Given the description of an element on the screen output the (x, y) to click on. 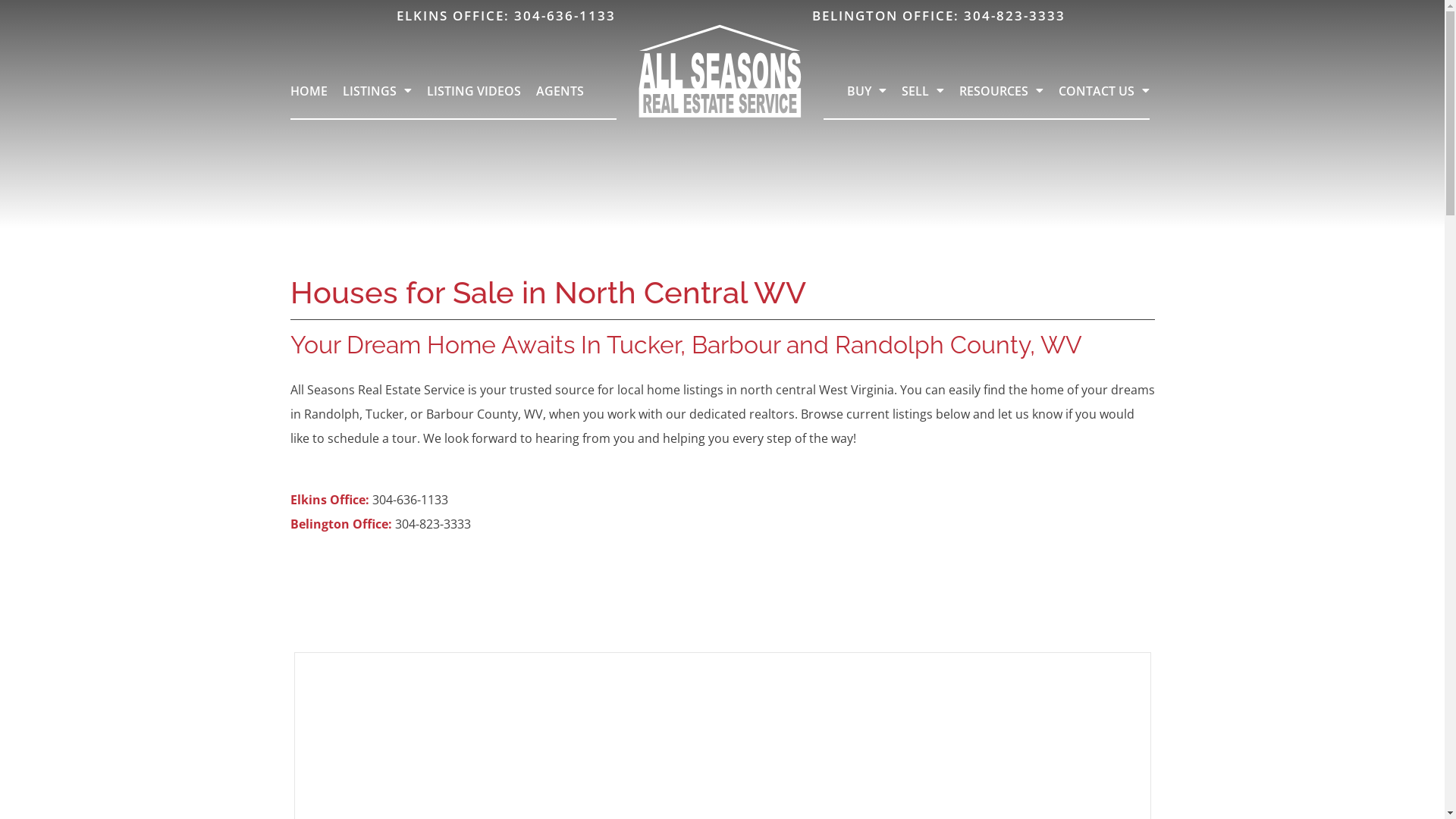
RESOURCES Element type: text (1001, 90)
CONTACT US Element type: text (1103, 90)
AGENTS Element type: text (559, 90)
LISTING VIDEOS Element type: text (473, 90)
LISTINGS Element type: text (376, 90)
HOME Element type: text (307, 90)
SELL Element type: text (922, 90)
BUY Element type: text (866, 90)
